Given the description of an element on the screen output the (x, y) to click on. 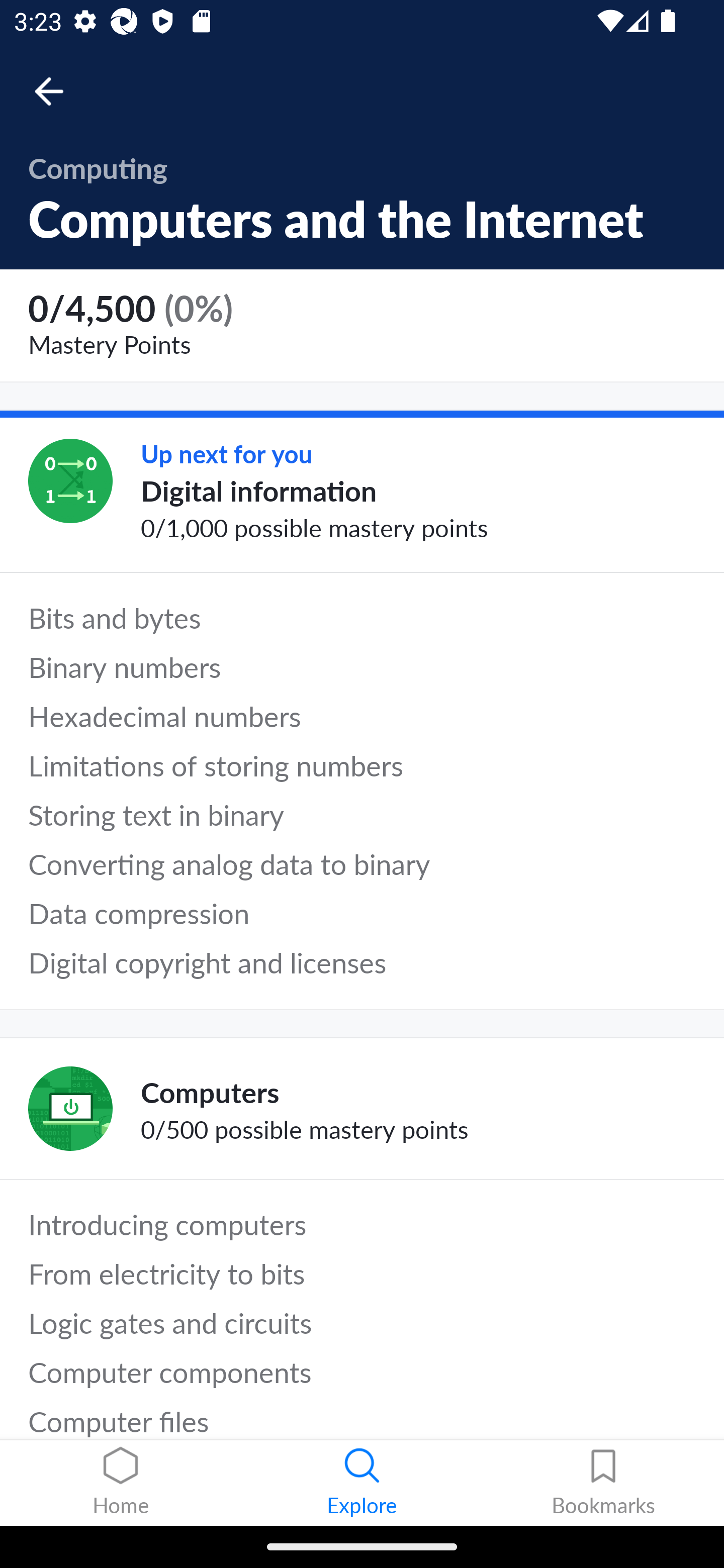
Back (58, 91)
Computers 0/500 possible mastery points (362, 1108)
Home (120, 1482)
Explore (361, 1482)
Bookmarks (603, 1482)
